Given the description of an element on the screen output the (x, y) to click on. 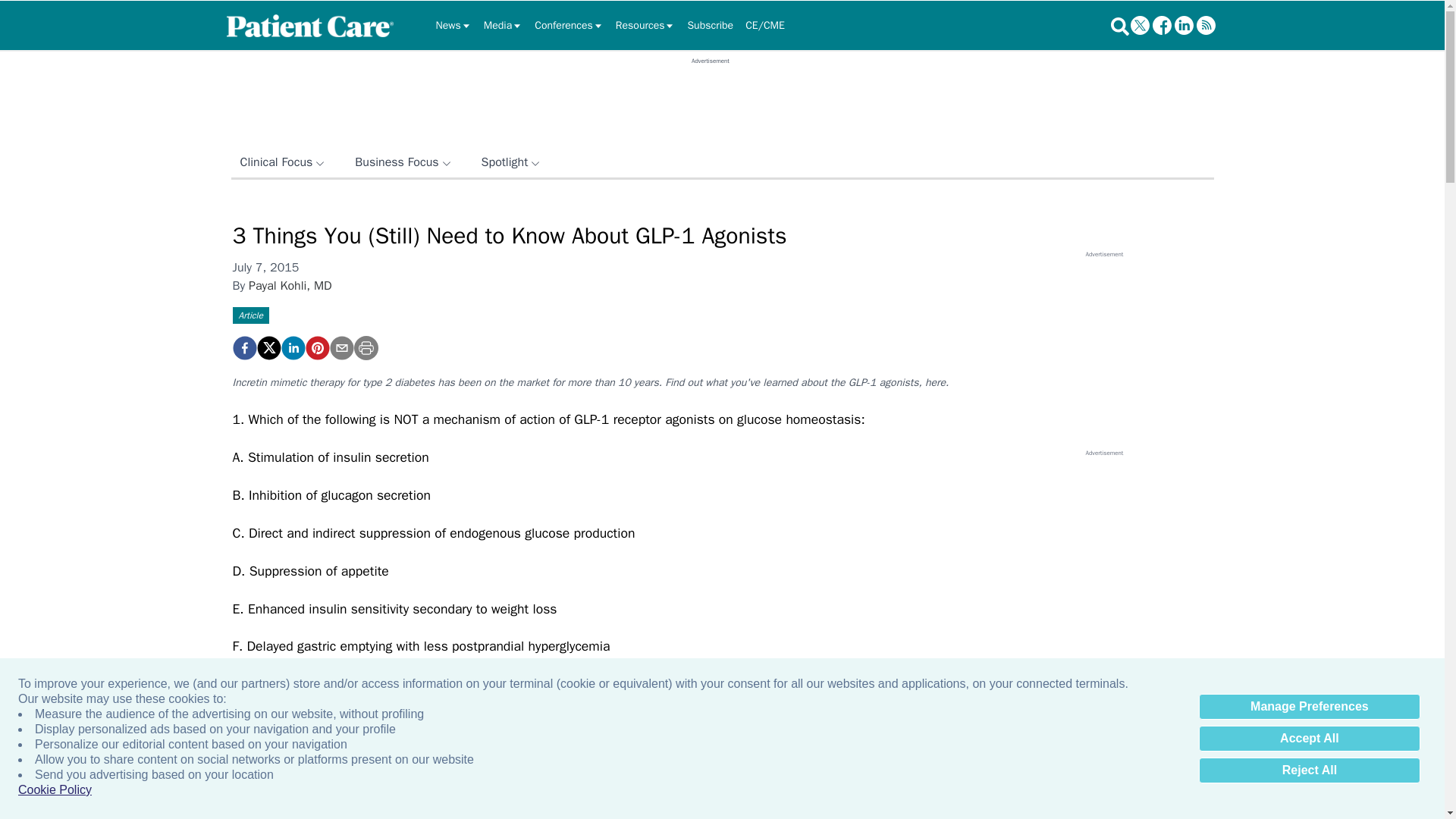
Cookie Policy (54, 789)
Subscribe (710, 25)
3rd party ad content (709, 99)
Reject All (1309, 769)
Accept All (1309, 738)
Manage Preferences (1309, 706)
